Given the description of an element on the screen output the (x, y) to click on. 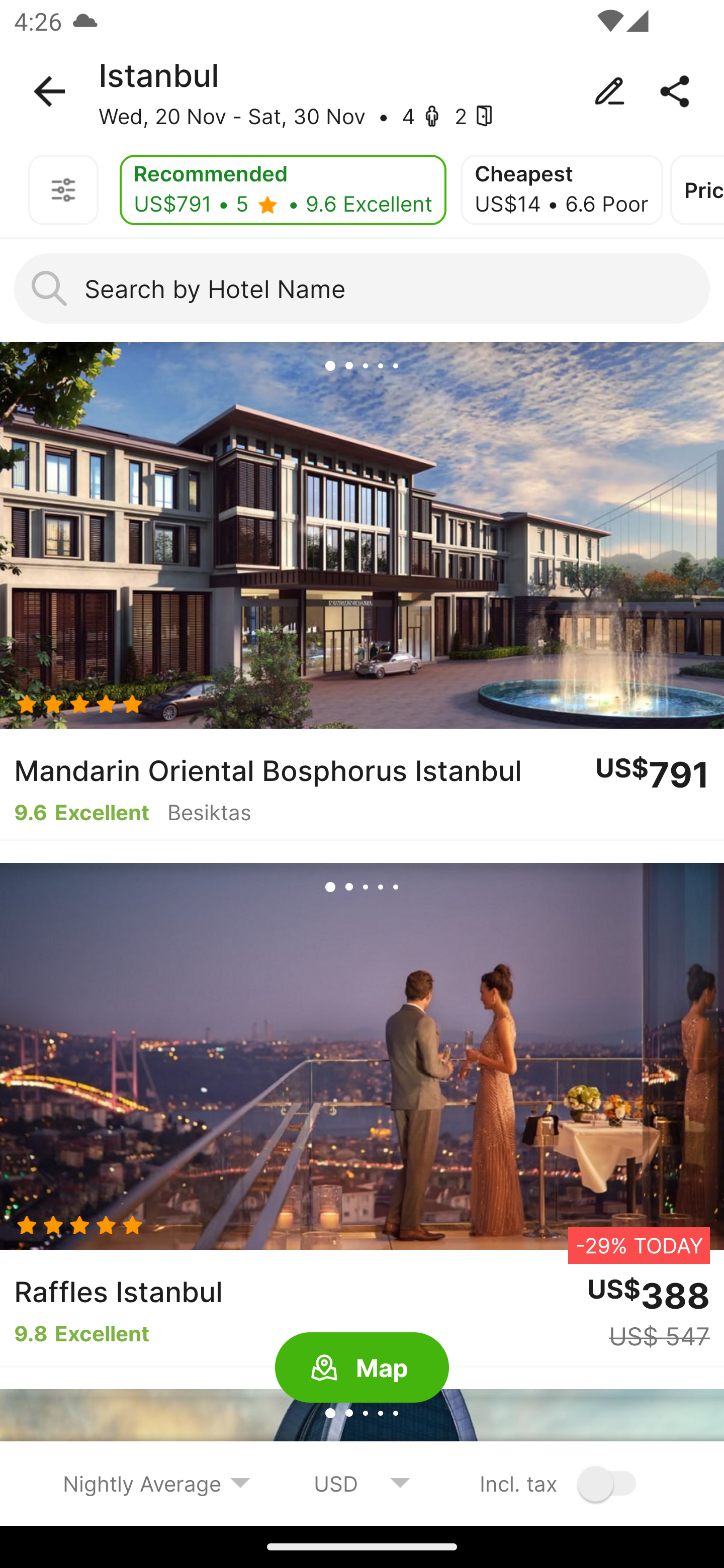
Istanbul Wed, 20 Nov - Sat, 30 Nov  •  4 -  2 - (361, 91)
Recommended  US$791  • 5 - • 9.6 Excellent (282, 190)
Cheapest US$14  • 6.6 Poor (561, 190)
Search by Hotel Name  (361, 288)
Map  (361, 1367)
Nightly Average (156, 1482)
USD (361, 1482)
